Given the description of an element on the screen output the (x, y) to click on. 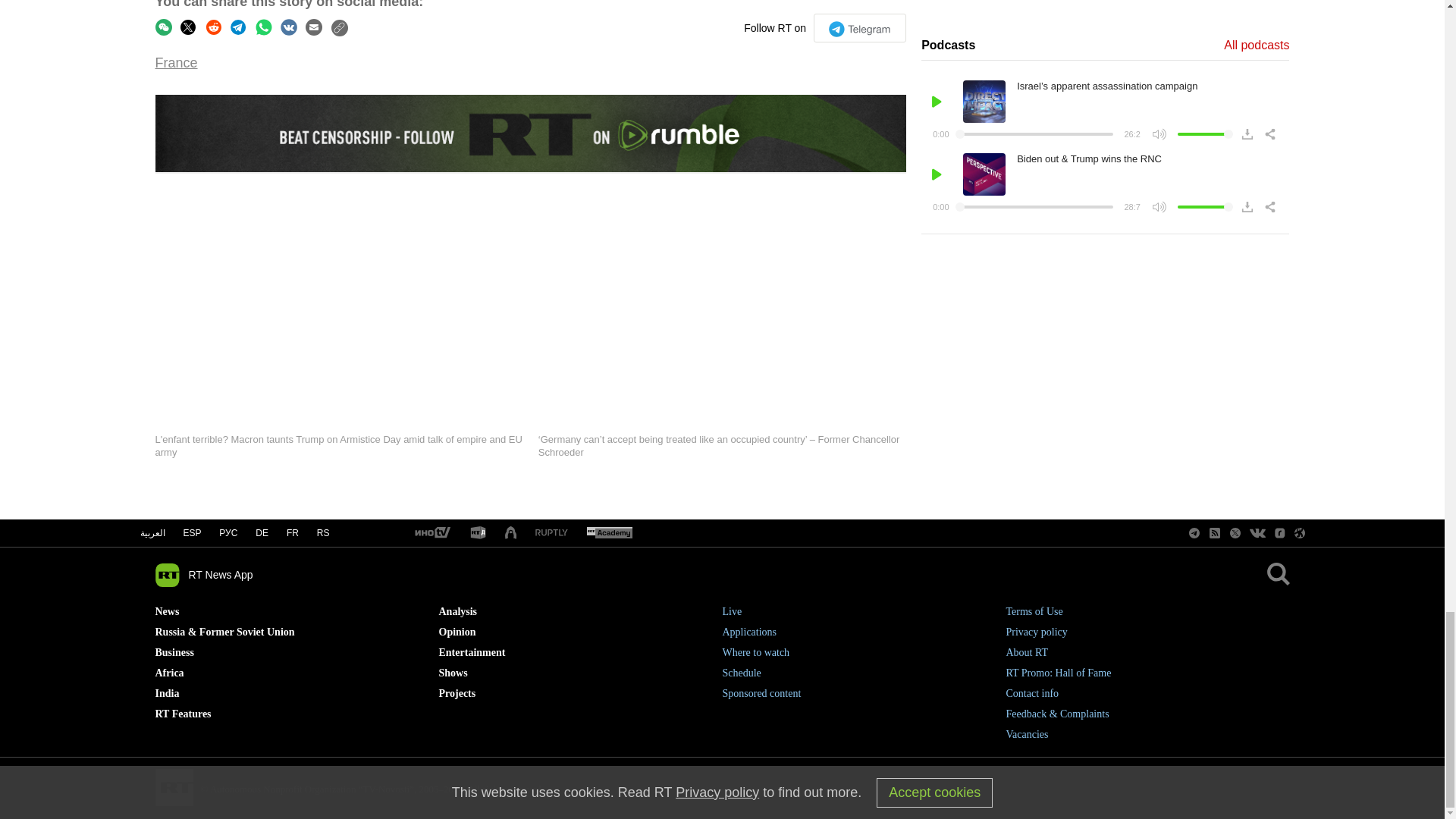
RT  (608, 533)
RT  (431, 533)
RT  (478, 533)
RT  (551, 533)
